Given the description of an element on the screen output the (x, y) to click on. 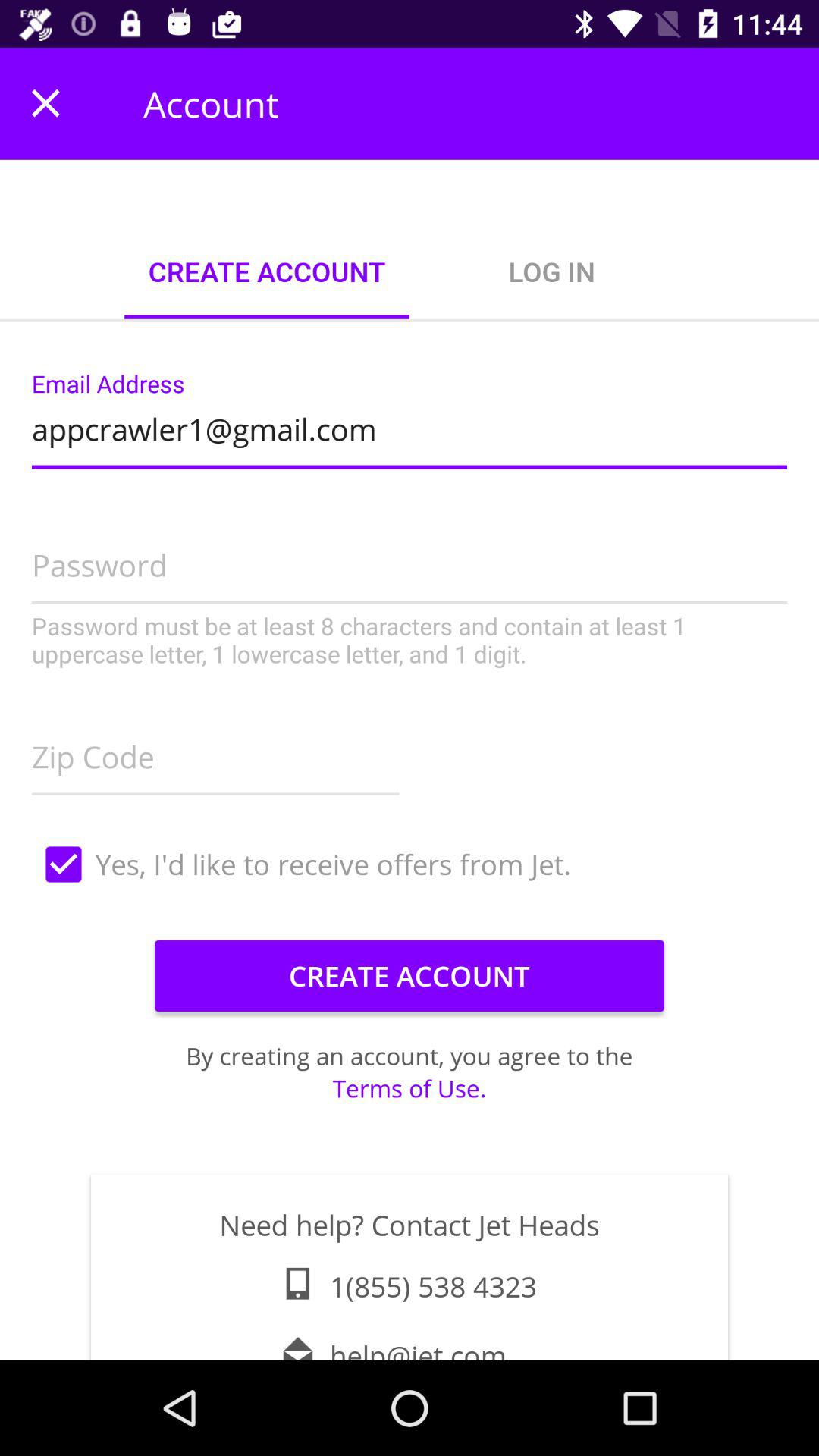
enter zip code (215, 752)
